Given the description of an element on the screen output the (x, y) to click on. 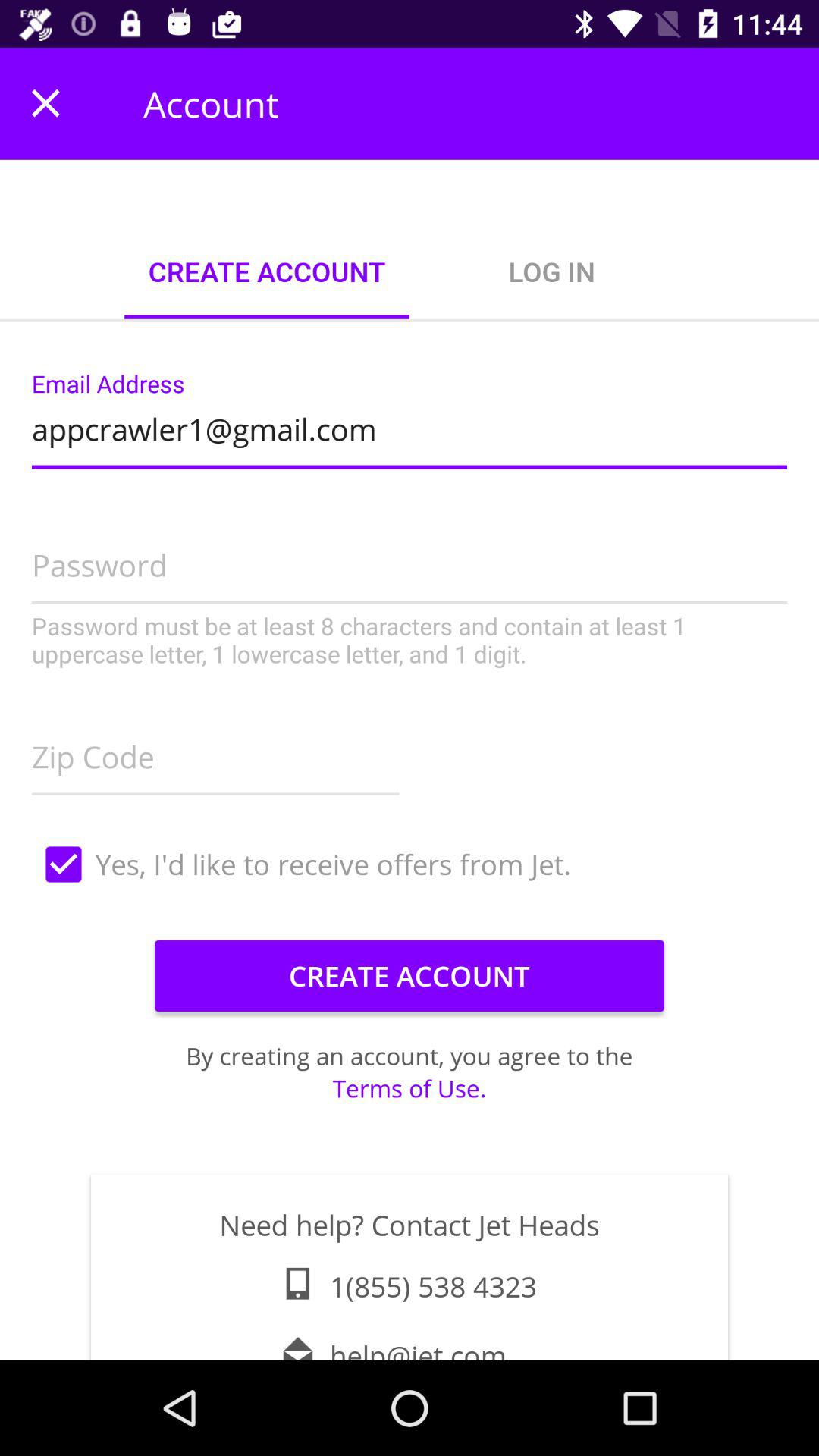
enter zip code (215, 752)
